Given the description of an element on the screen output the (x, y) to click on. 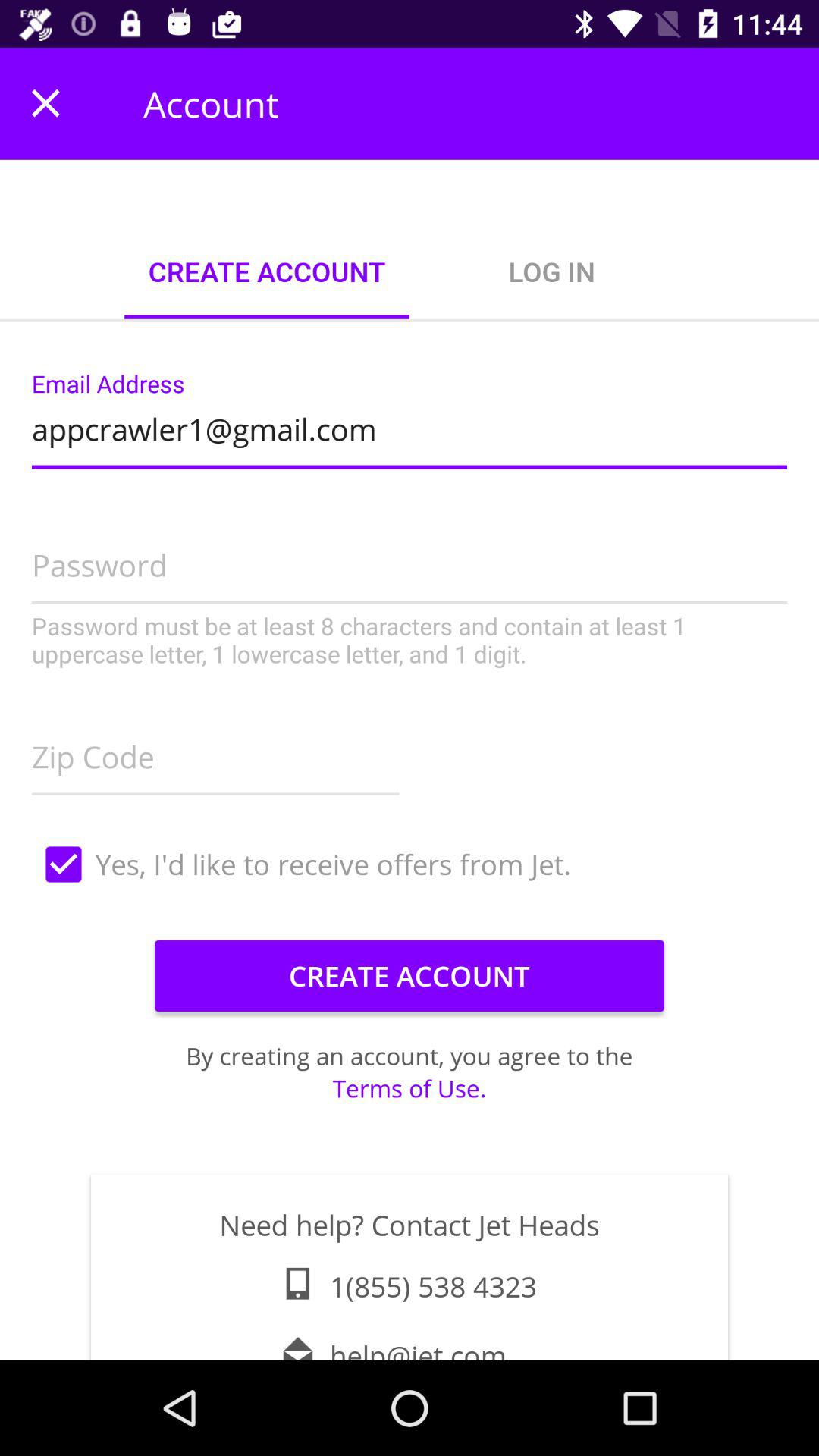
enter zip code (215, 752)
